Given the description of an element on the screen output the (x, y) to click on. 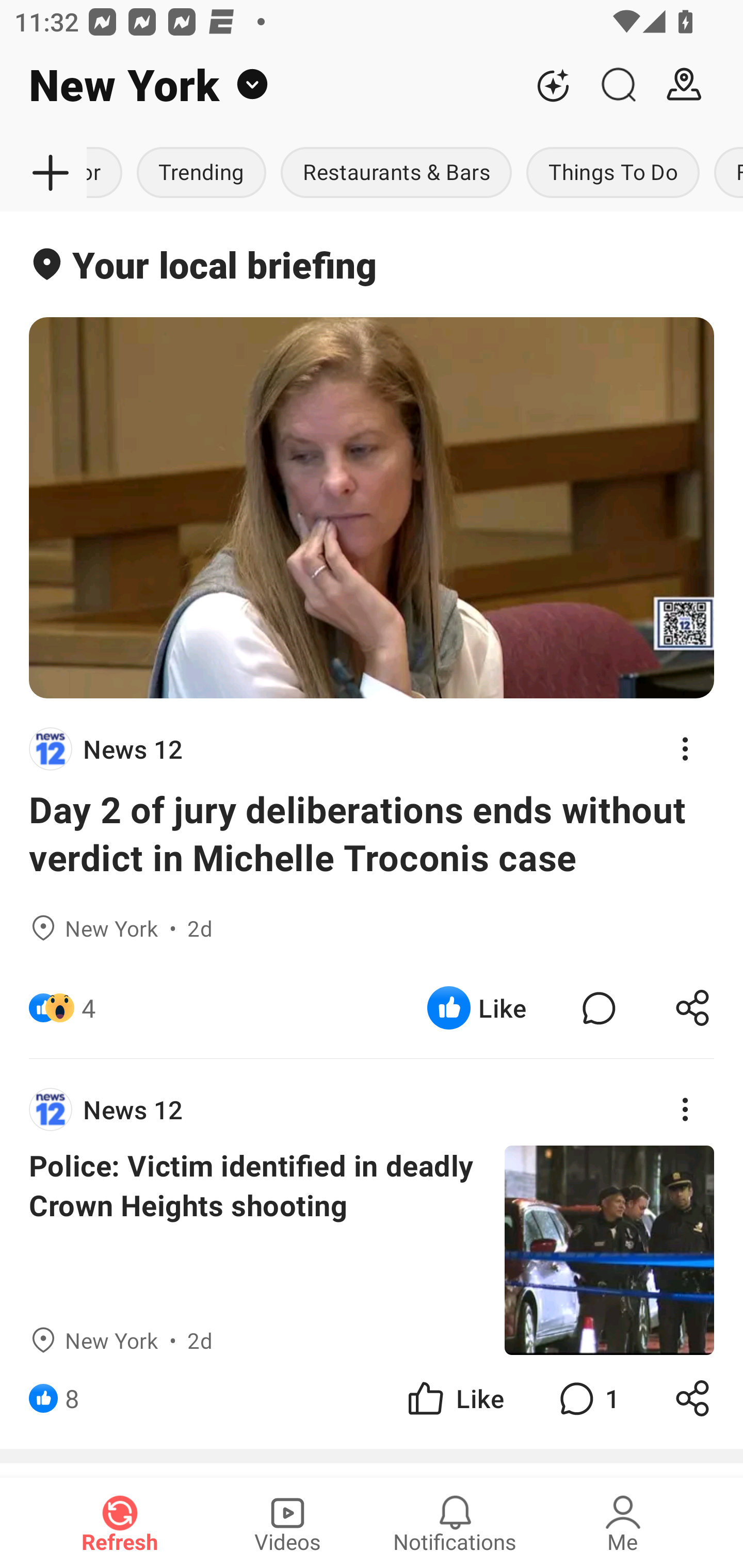
New York (260, 84)
Trending (201, 172)
Restaurants & Bars (396, 172)
Things To Do (612, 172)
4 (88, 1007)
Like (476, 1007)
8 (72, 1397)
Like (454, 1397)
1 (587, 1397)
Videos (287, 1522)
Notifications (455, 1522)
Me (622, 1522)
